Given the description of an element on the screen output the (x, y) to click on. 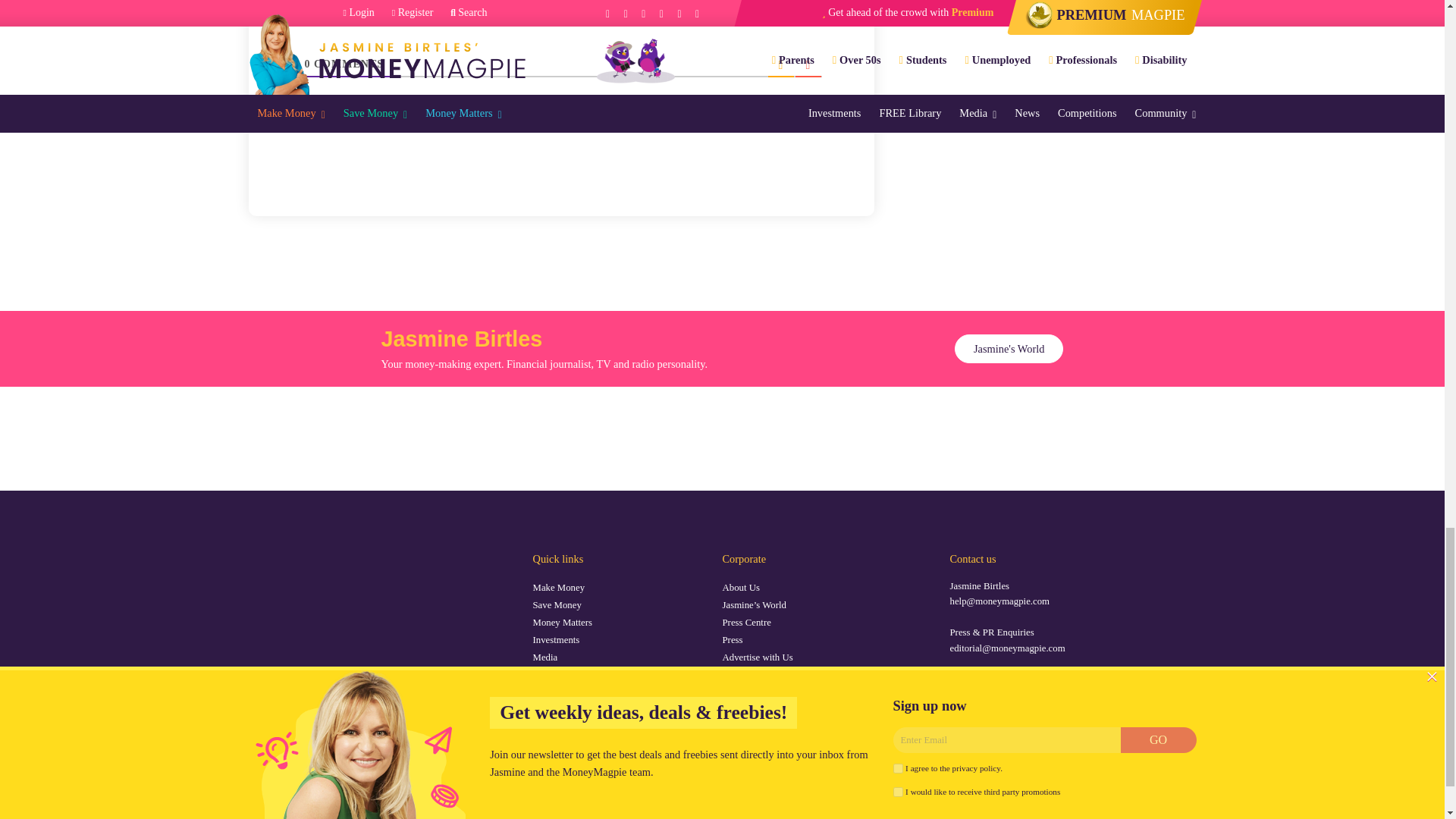
Bold (369, 9)
Italic (390, 9)
